Given the description of an element on the screen output the (x, y) to click on. 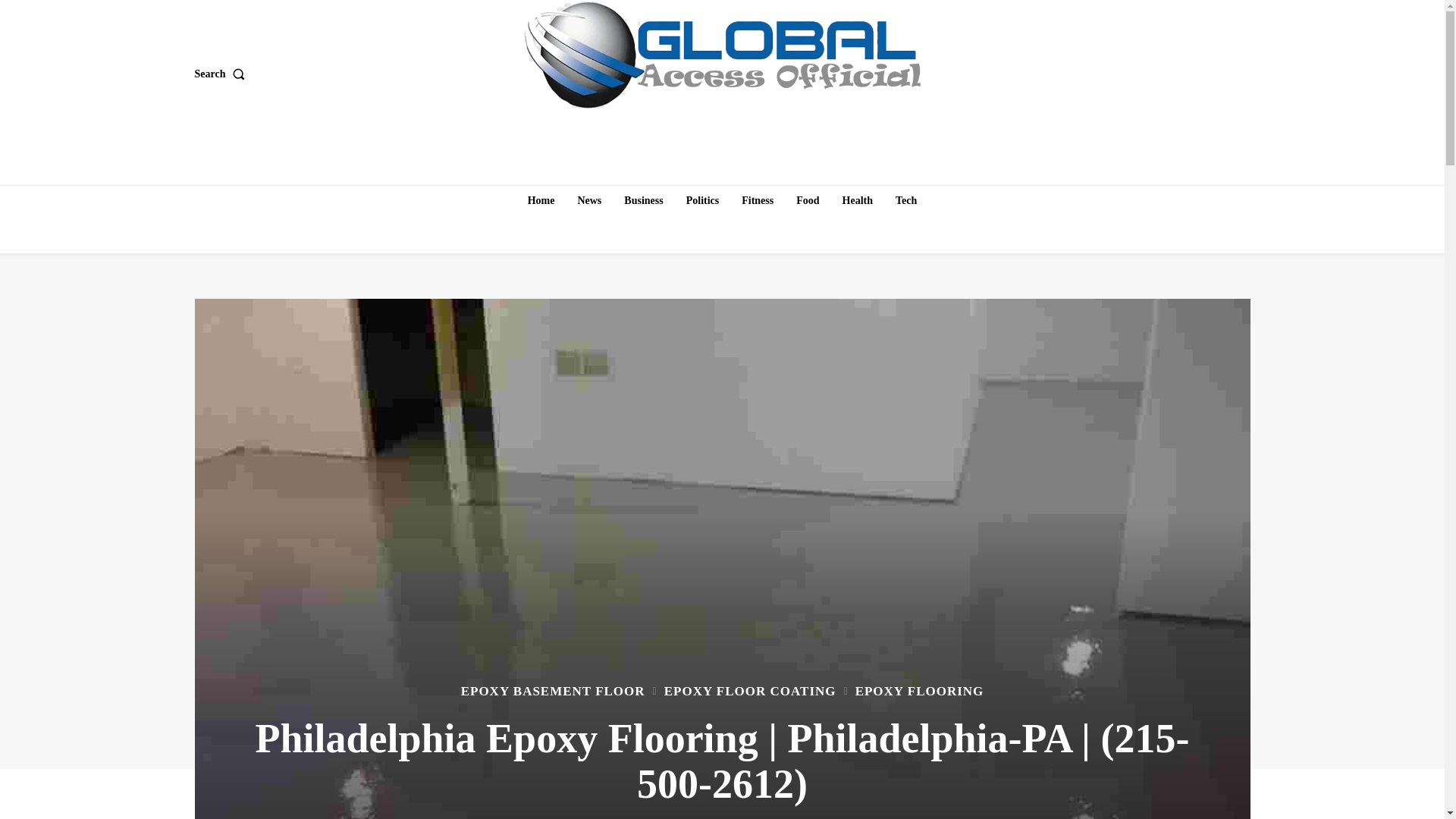
Home (540, 201)
EPOXY FLOOR COATING (749, 690)
Politics (702, 201)
EPOXY FLOORING (920, 690)
Search (221, 74)
EPOXY BASEMENT FLOOR (553, 690)
Business (642, 201)
Tech (906, 201)
Health (857, 201)
Food (808, 201)
Fitness (756, 201)
News (588, 201)
